Given the description of an element on the screen output the (x, y) to click on. 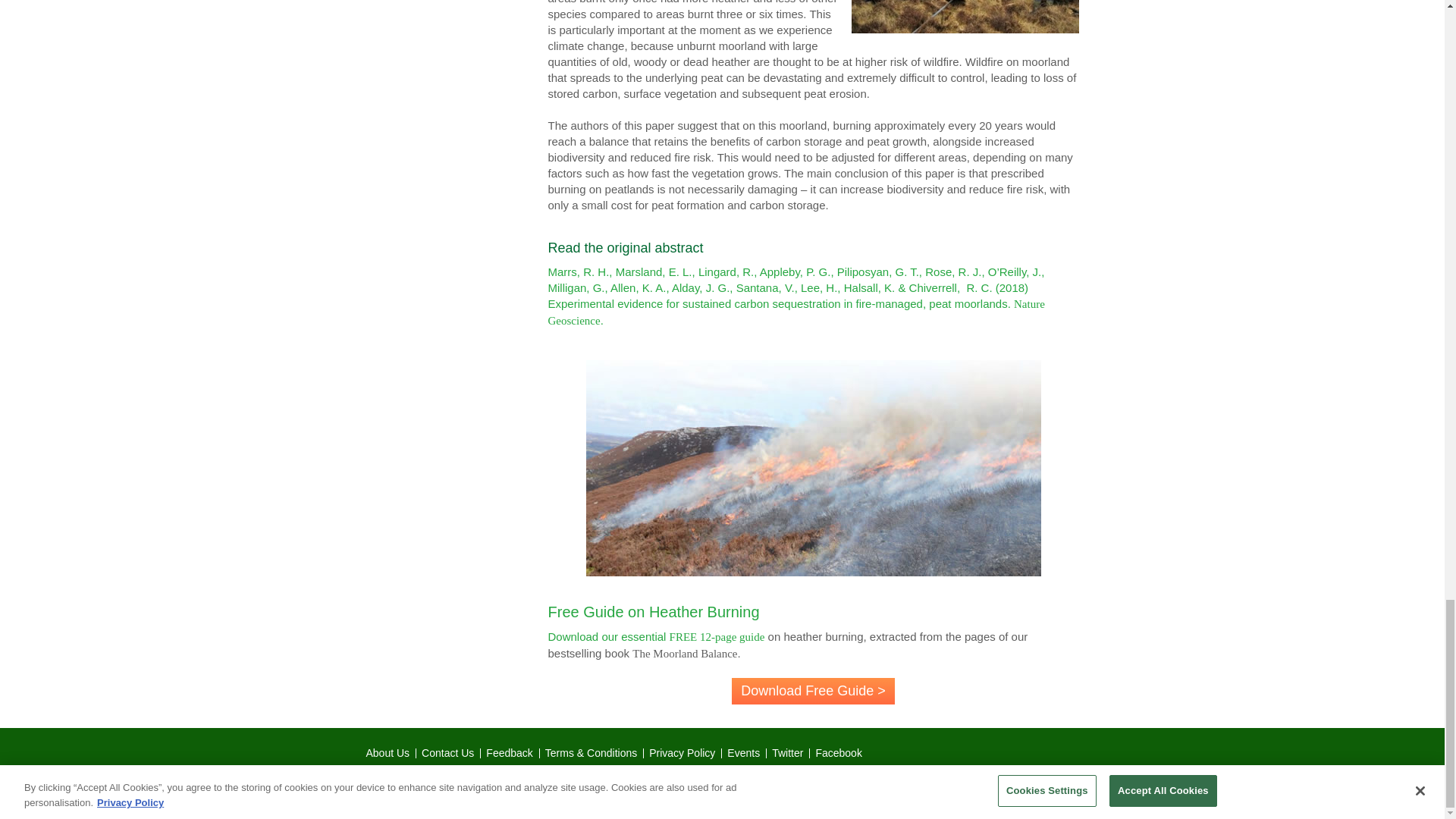
Download now (813, 691)
Muirburn (964, 16)
